Given the description of an element on the screen output the (x, y) to click on. 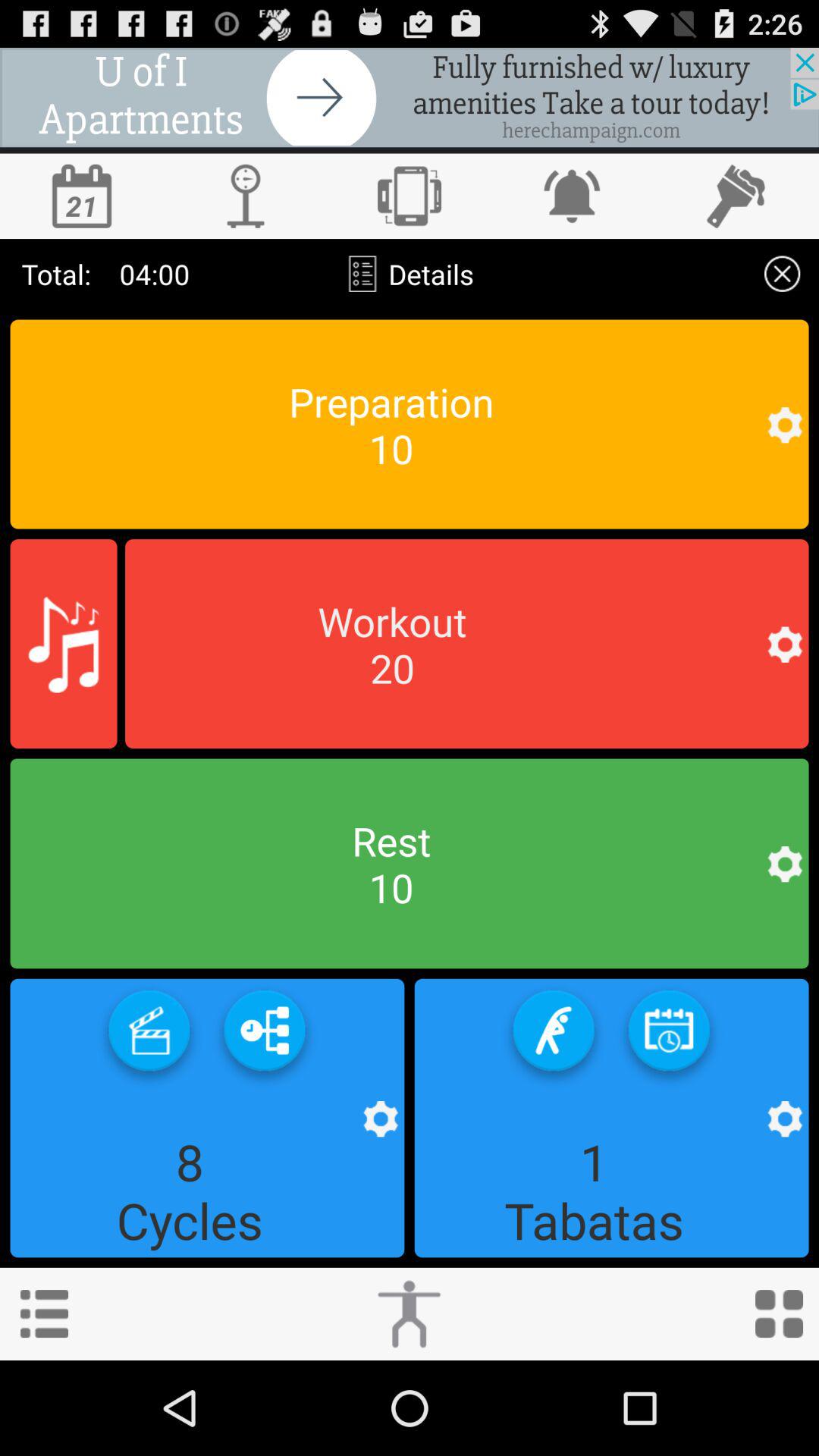
play the song (63, 643)
